Given the description of an element on the screen output the (x, y) to click on. 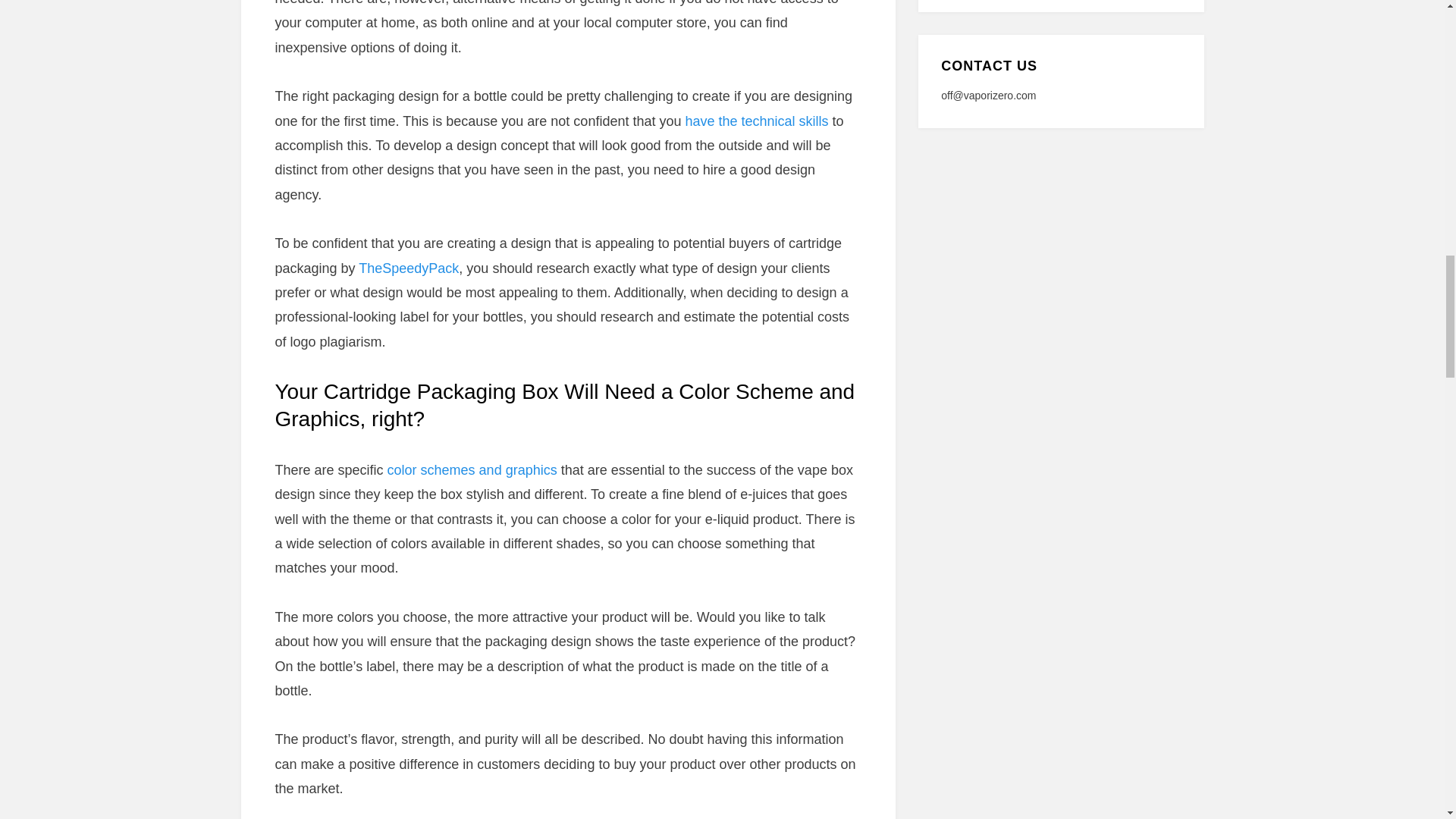
TheSpeedyPack (408, 268)
have the technical skills (756, 120)
color schemes and graphics (472, 469)
